Given the description of an element on the screen output the (x, y) to click on. 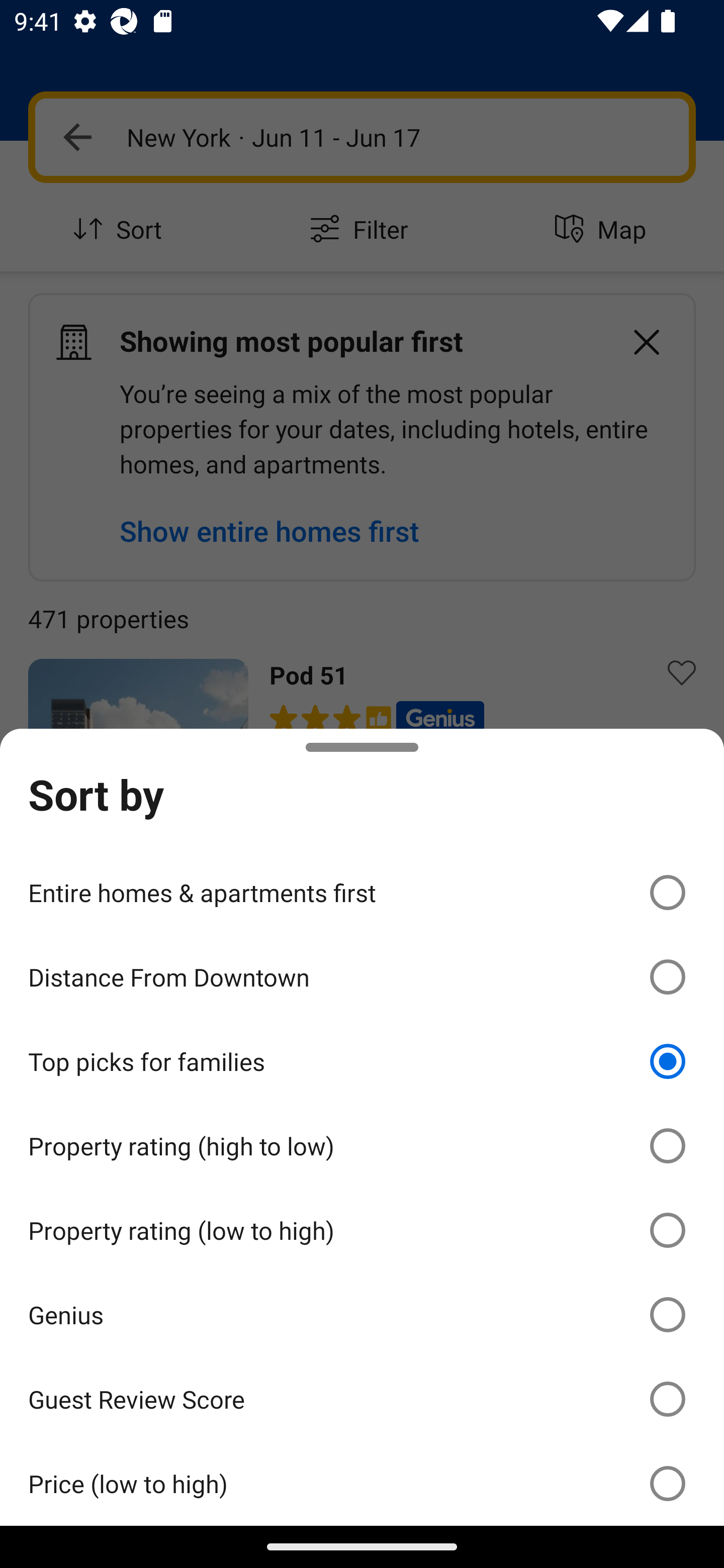
Entire homes & apartments first (362, 891)
Distance From Downtown (362, 976)
Top picks for families (362, 1061)
Property rating (high to low) (362, 1145)
Property rating (low to high) (362, 1230)
Genius (362, 1314)
Guest Review Score (362, 1398)
Price (low to high) (362, 1482)
